Given the description of an element on the screen output the (x, y) to click on. 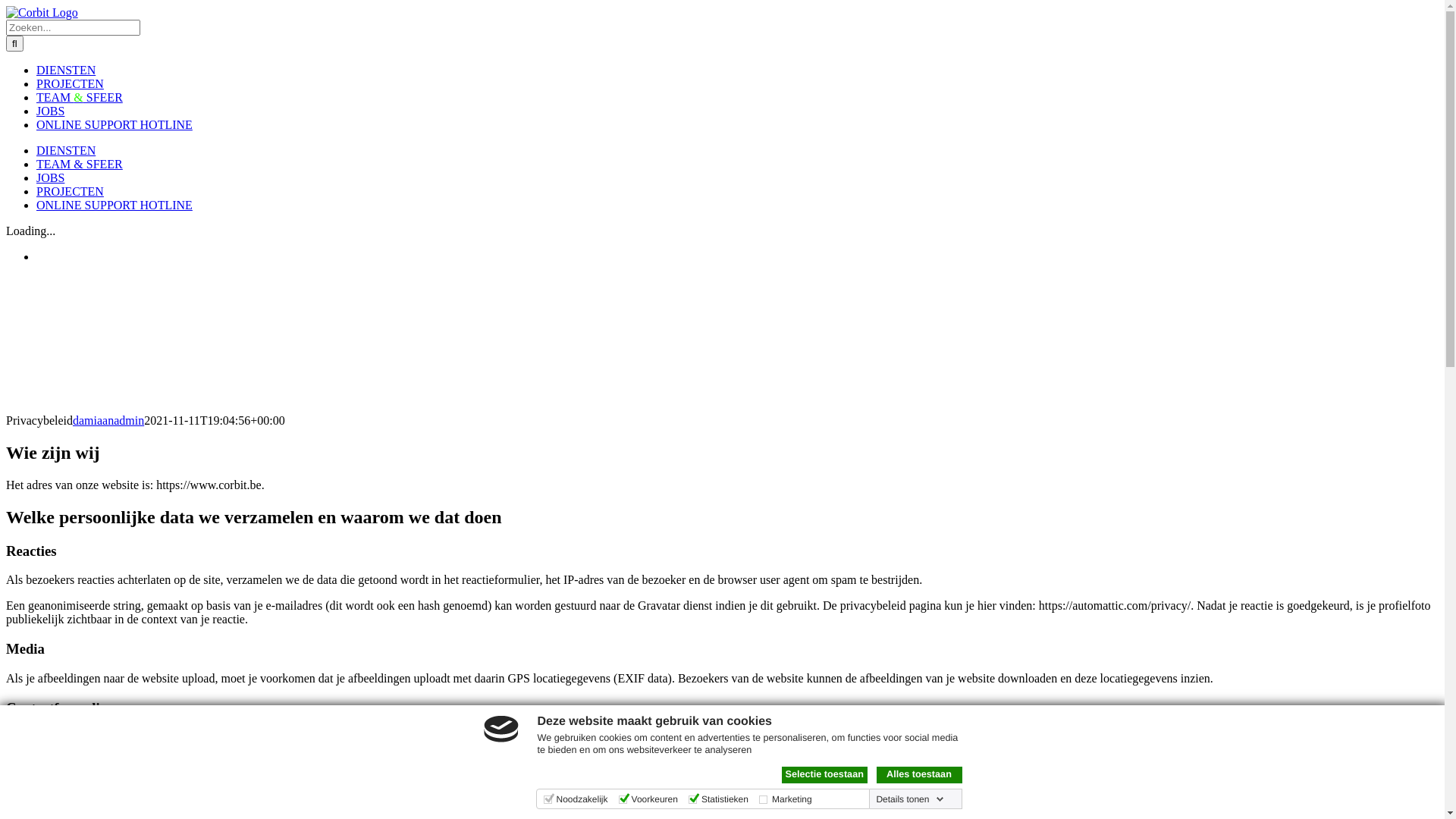
Details tonen Element type: text (909, 799)
JOBS Element type: text (50, 110)
damiaanadmin Element type: text (108, 420)
PROJECTEN Element type: text (69, 191)
Alles toestaan Element type: text (919, 774)
ONLINE SUPPORT HOTLINE Element type: text (114, 204)
DIENSTEN Element type: text (65, 69)
Selectie toestaan Element type: text (823, 774)
JOBS Element type: text (50, 177)
ONLINE SUPPORT HOTLINE Element type: text (114, 124)
TEAM & SFEER Element type: text (79, 163)
Skip to content Element type: text (5, 5)
TEAM & SFEER Element type: text (79, 97)
PROJECTEN Element type: text (69, 83)
DIENSTEN Element type: text (65, 150)
